Given the description of an element on the screen output the (x, y) to click on. 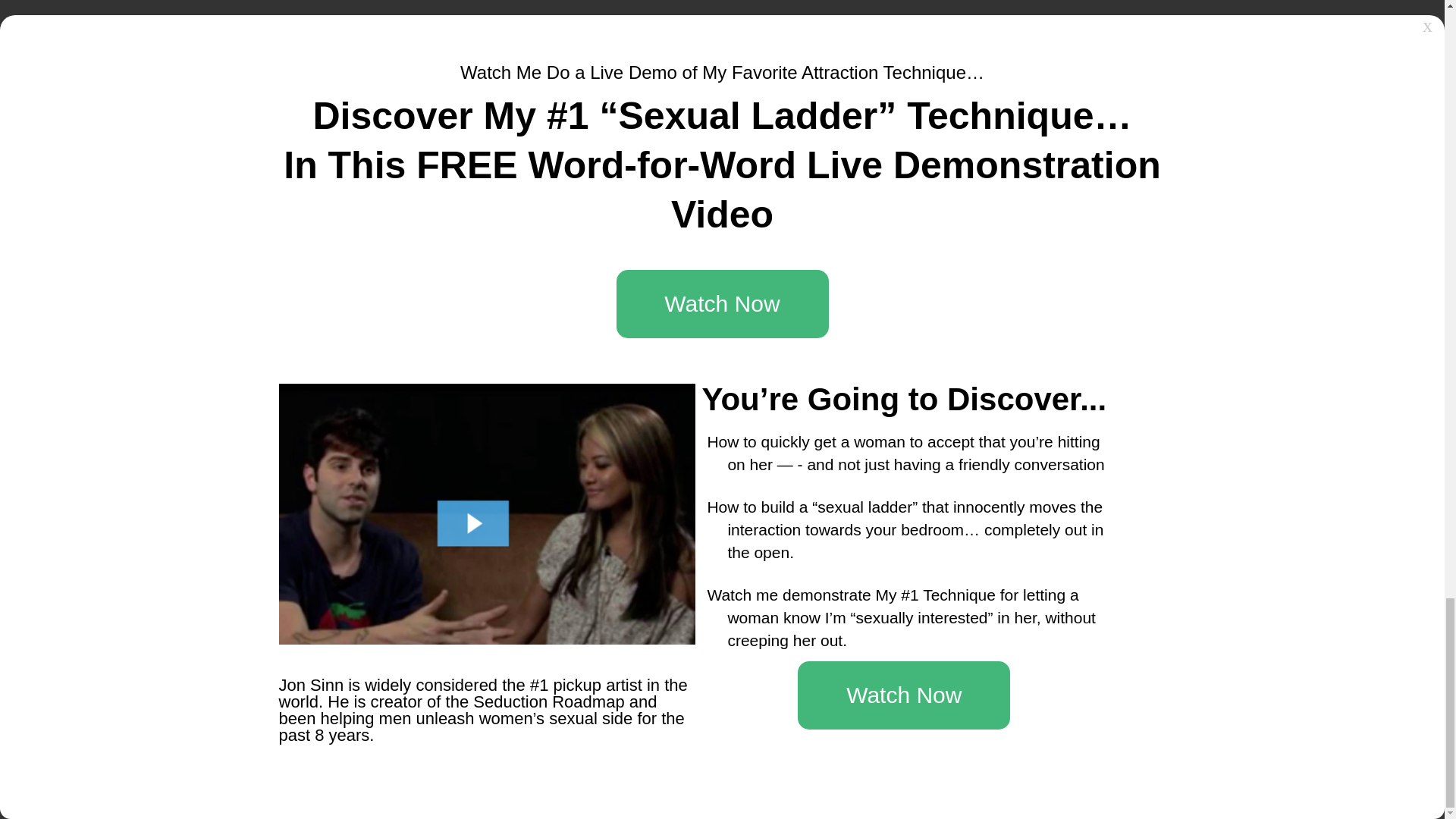
Homepage (324, 411)
Dating (373, 411)
Christopher Reid (1067, 589)
Jamie Atkinson (923, 611)
Bobby Rio (911, 517)
How To Make The Most Of A Chance Encounter (508, 411)
Patrick James (1060, 633)
R.S. Brasher (917, 676)
Ben Kissam (915, 655)
Rob Judge (912, 567)
Jon Sinn (907, 589)
Homepage (324, 411)
Nick Rogue (1054, 567)
Joe Elvin (908, 633)
David Maitland (1062, 655)
